Given the description of an element on the screen output the (x, y) to click on. 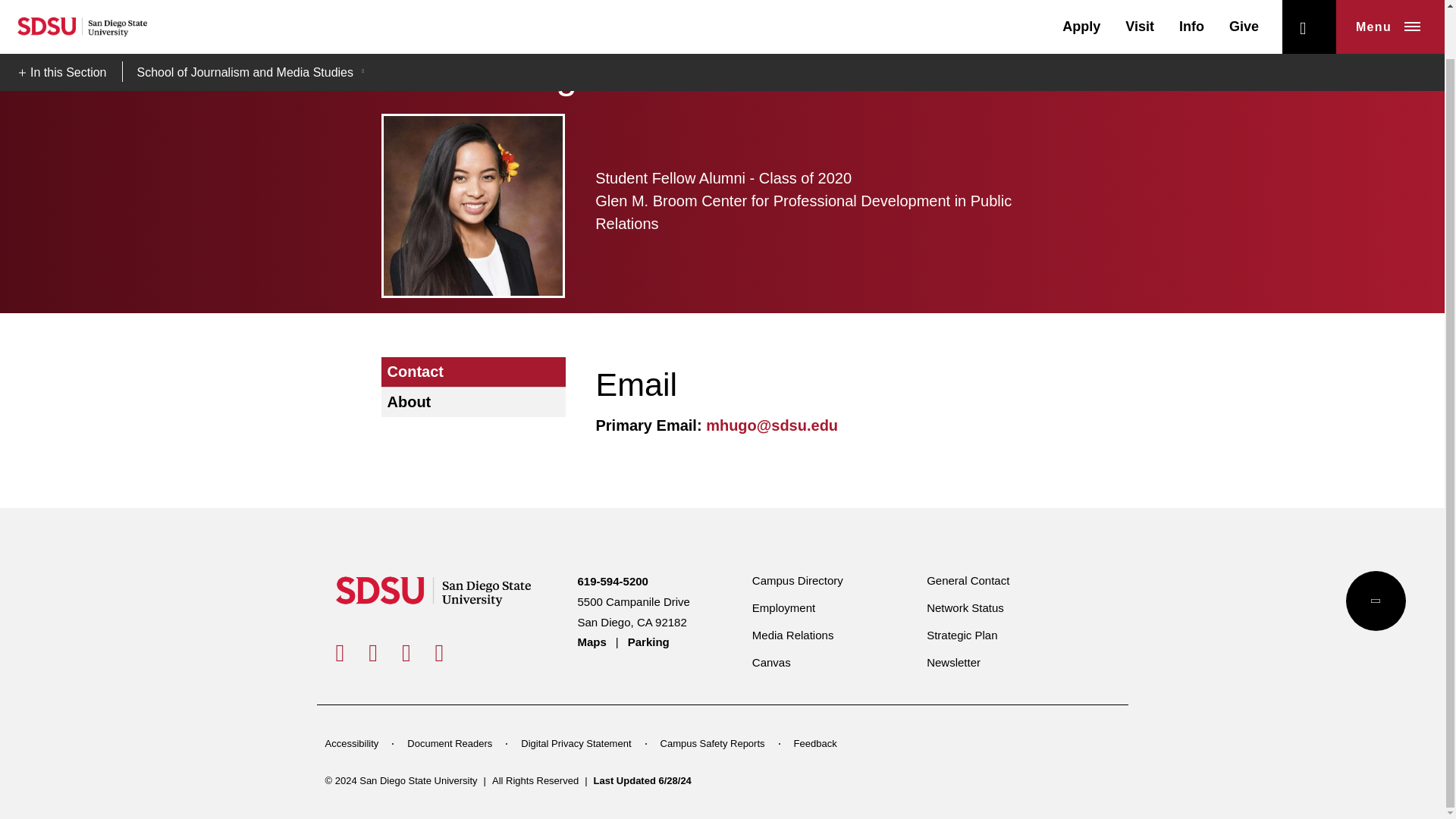
open (1309, 0)
